Given the description of an element on the screen output the (x, y) to click on. 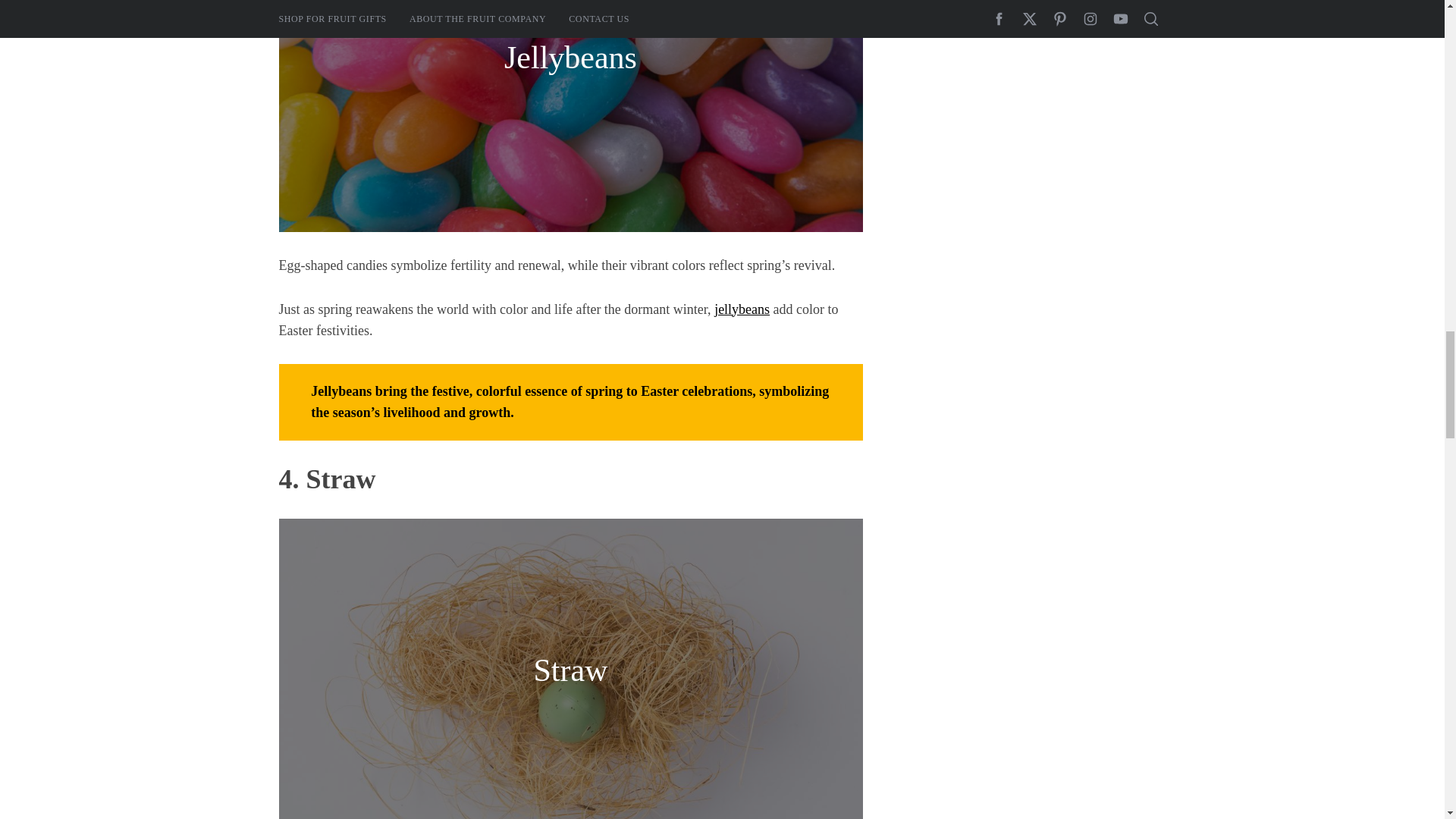
jellybeans (742, 309)
